Given the description of an element on the screen output the (x, y) to click on. 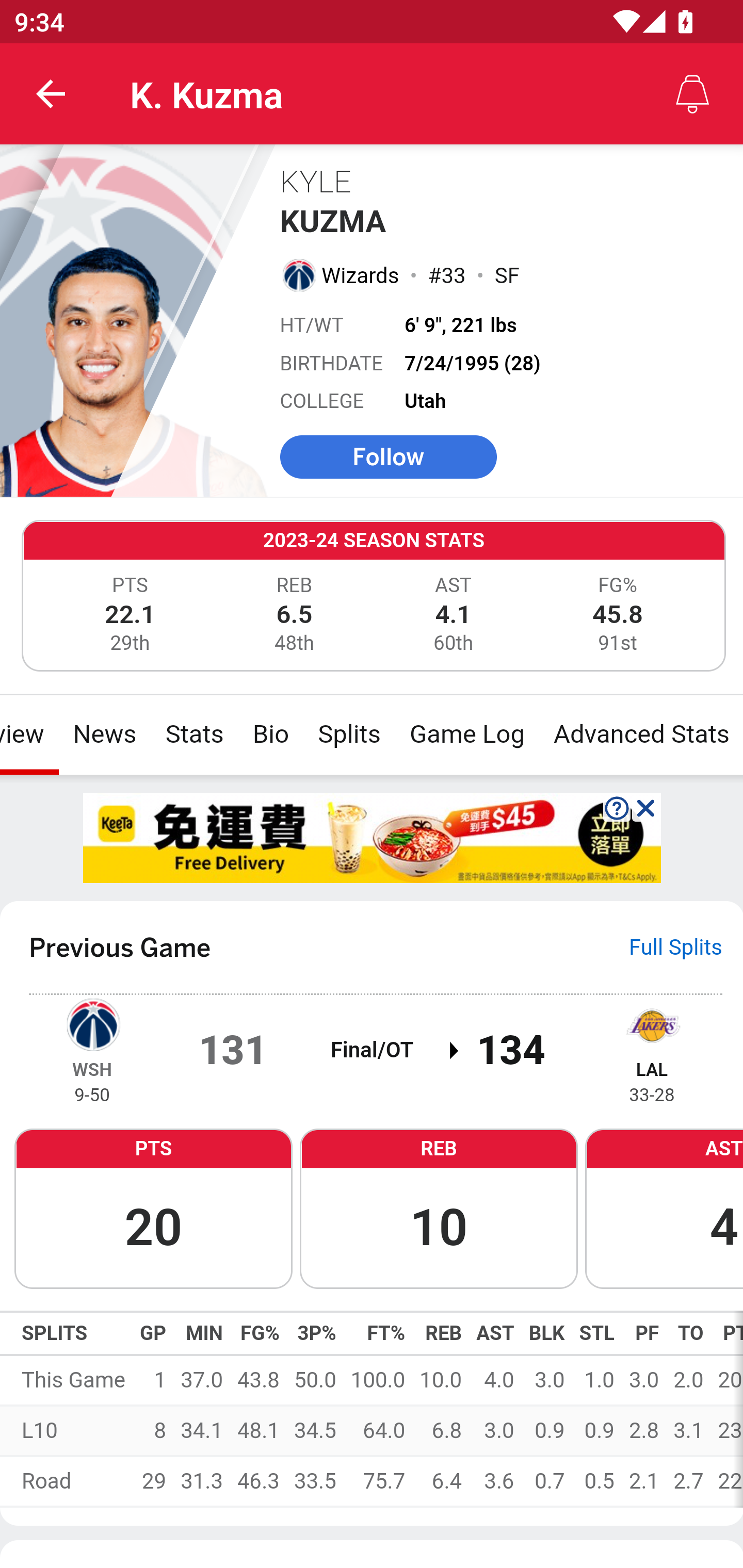
back.button (50, 93)
Alerts (692, 93)
Washington Wizards (297, 274)
Wizards (361, 274)
Utah (426, 401)
Follow (387, 455)
Overview (29, 734)
News (104, 734)
Stats (193, 734)
Bio (270, 734)
Splits (349, 734)
Game Log (466, 734)
Advanced Stats (640, 734)
Full Splits (675, 946)
Washington Wizards (91, 1022)
Los Angeles Lakers (651, 1022)
PTS 20 (153, 1206)
REB 10 (438, 1206)
